Given the description of an element on the screen output the (x, y) to click on. 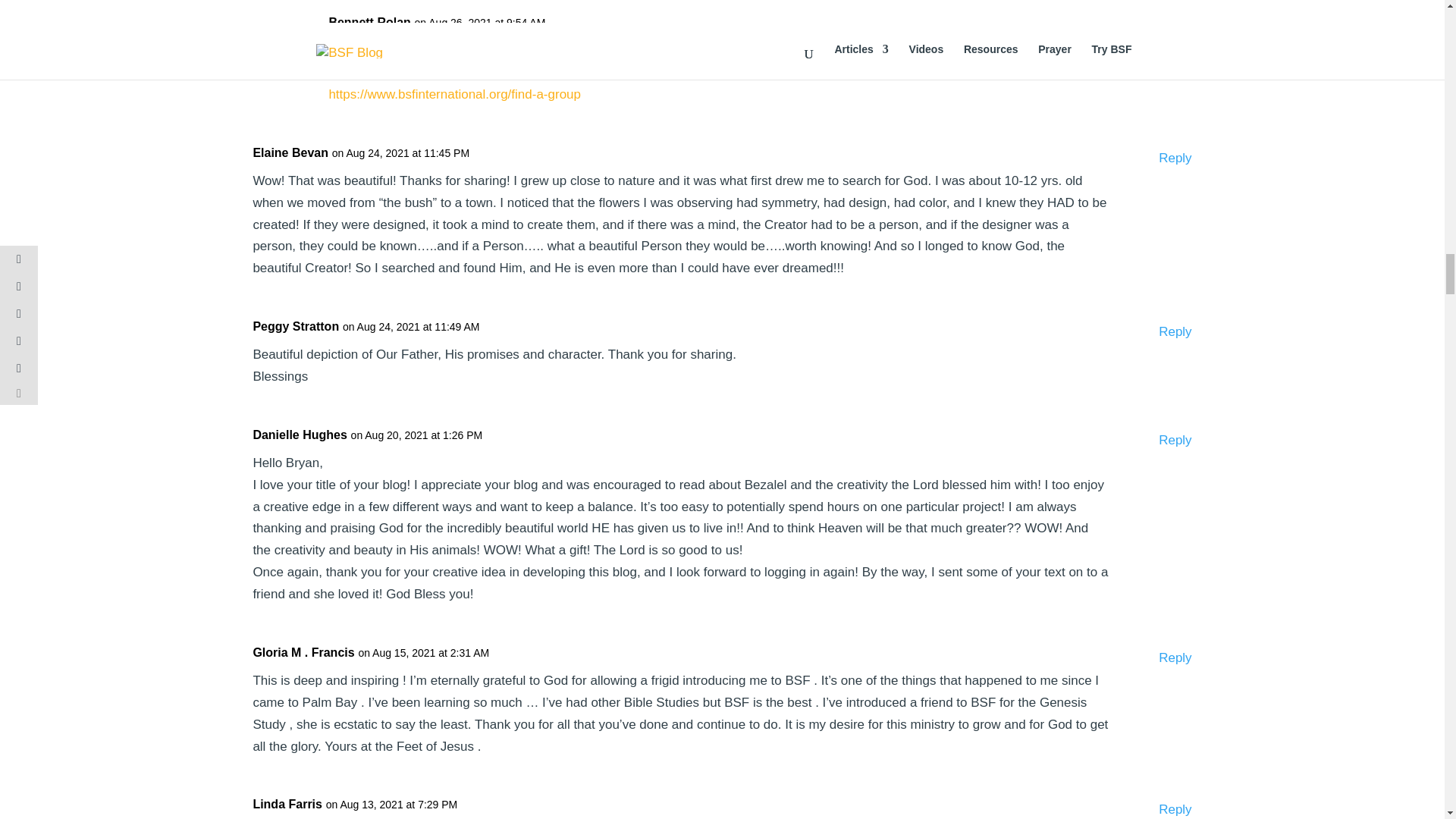
Reply (1174, 658)
Reply (1174, 440)
Reply (1174, 332)
Reply (1174, 158)
Reply (1174, 809)
Reply (1174, 28)
